Given the description of an element on the screen output the (x, y) to click on. 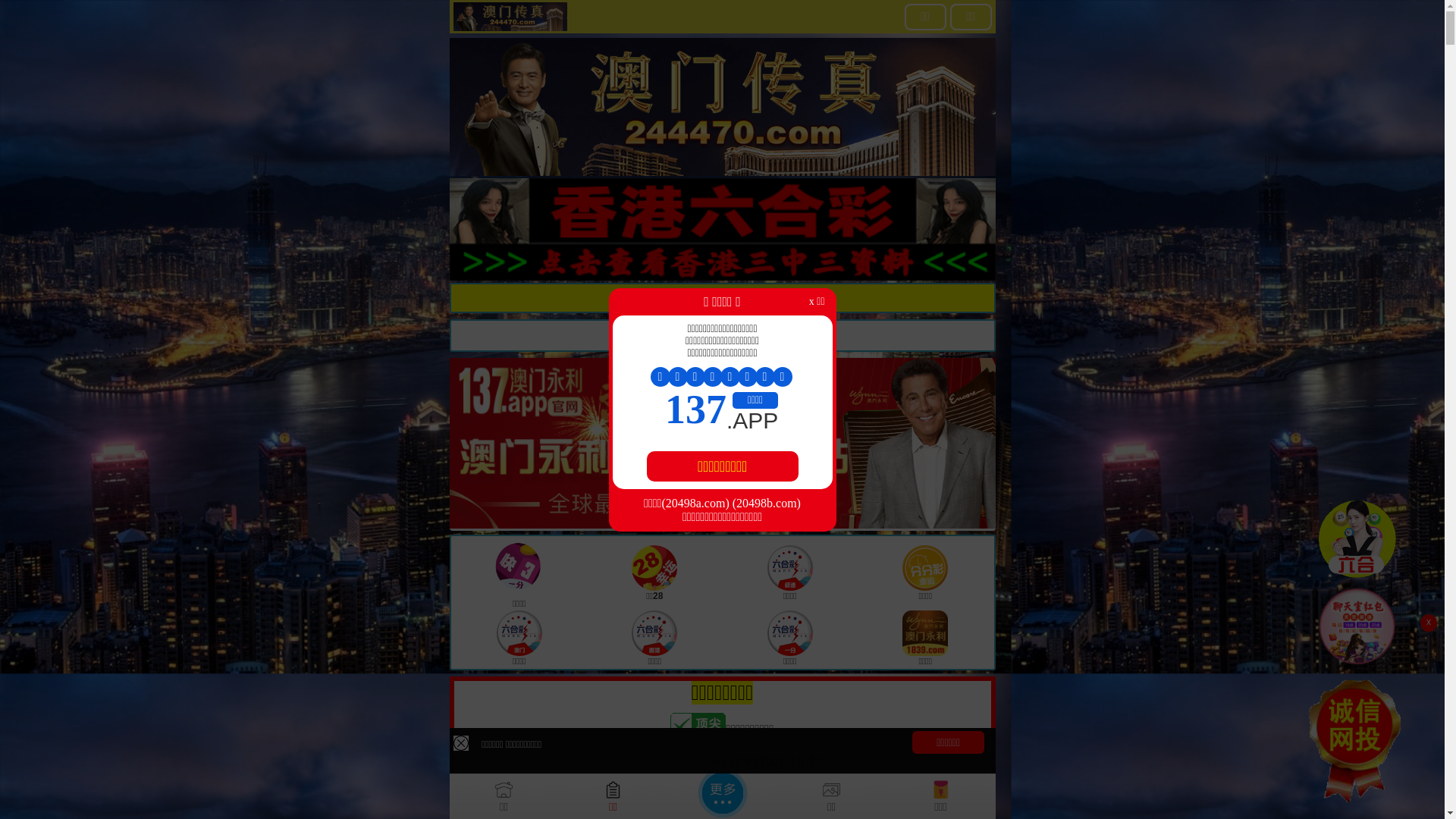
x Element type: text (1428, 622)
